Given the description of an element on the screen output the (x, y) to click on. 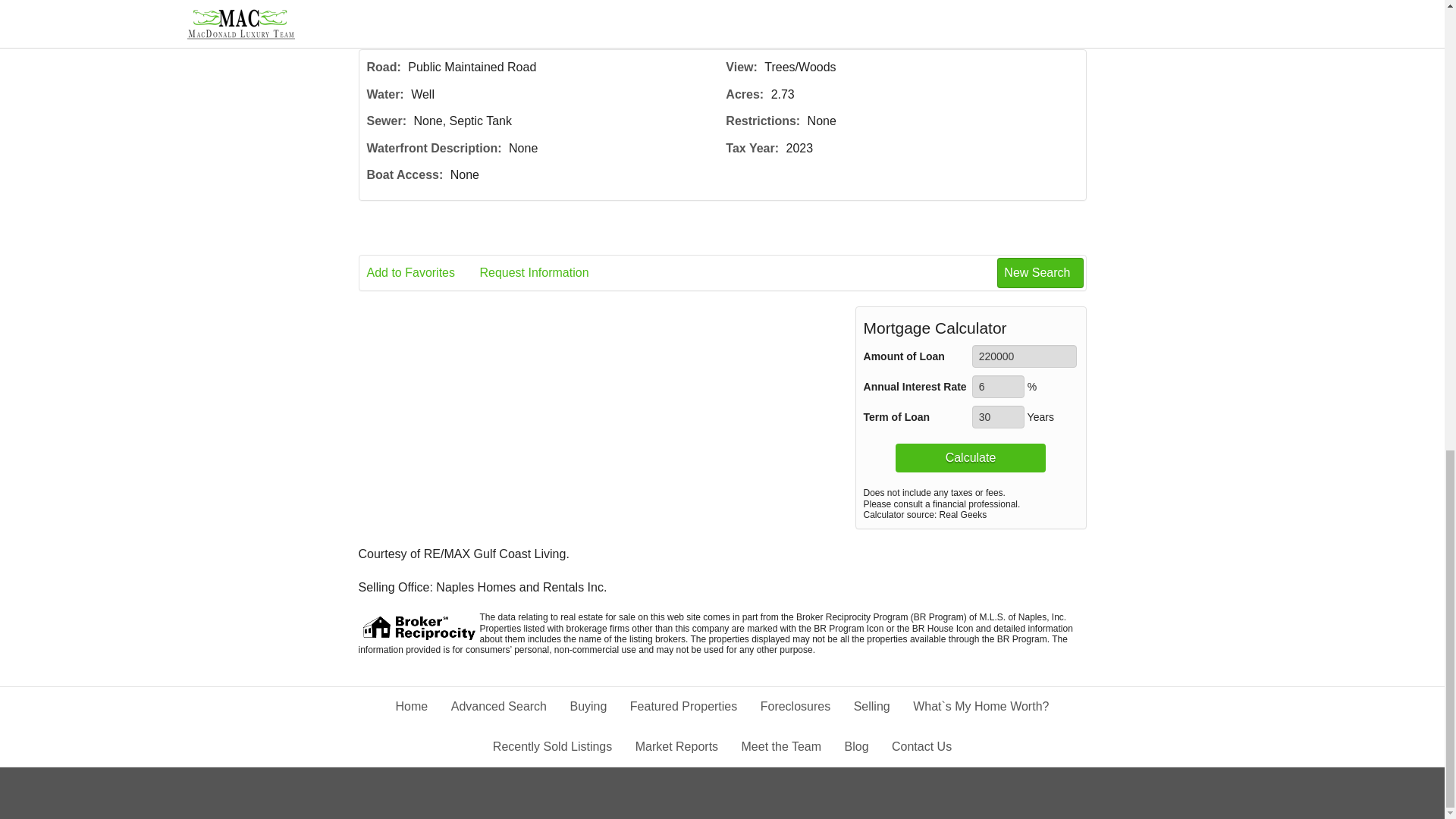
6 (998, 386)
220000 (1024, 355)
30 (998, 416)
